Given the description of an element on the screen output the (x, y) to click on. 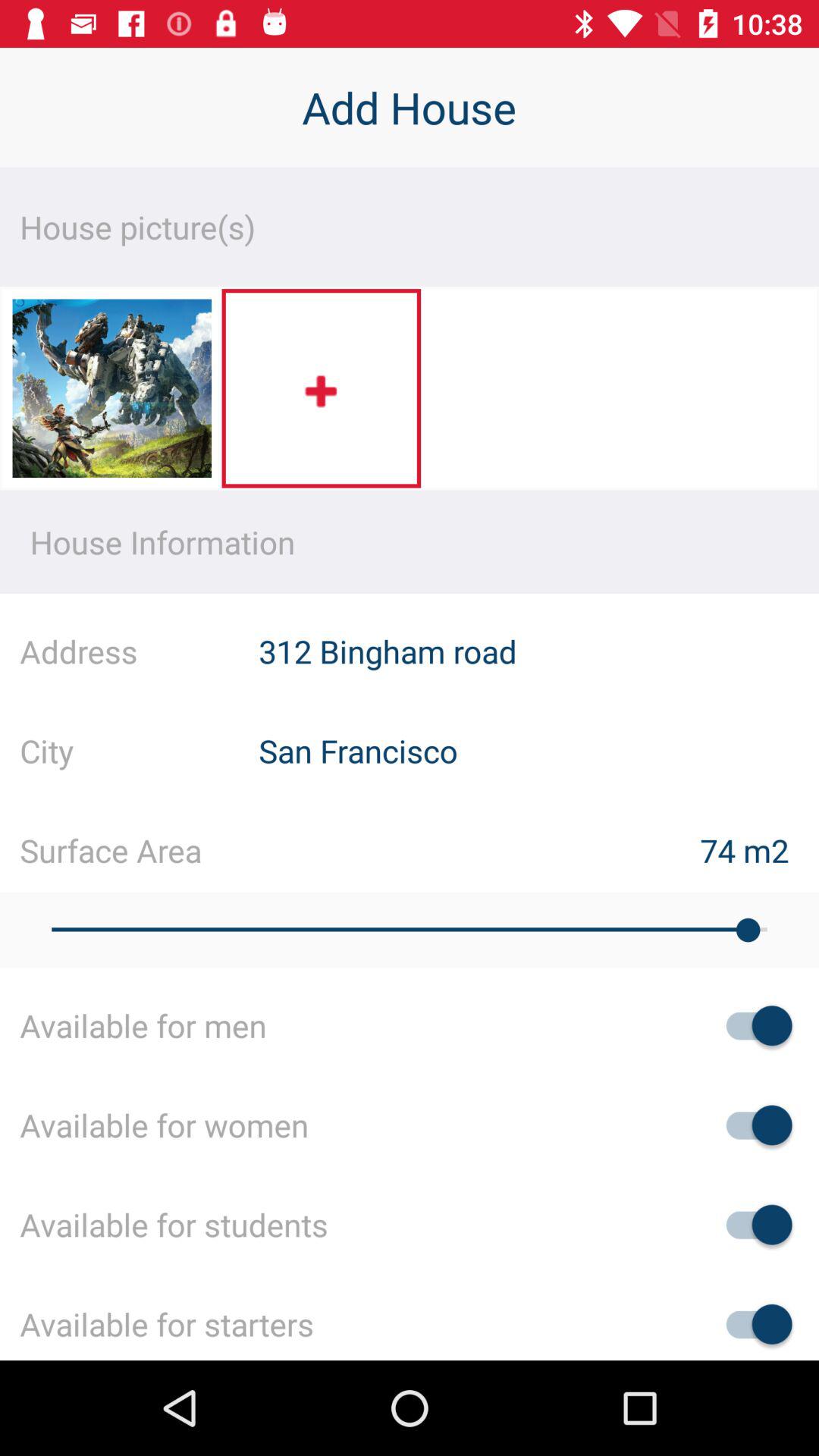
add more (320, 387)
